Given the description of an element on the screen output the (x, y) to click on. 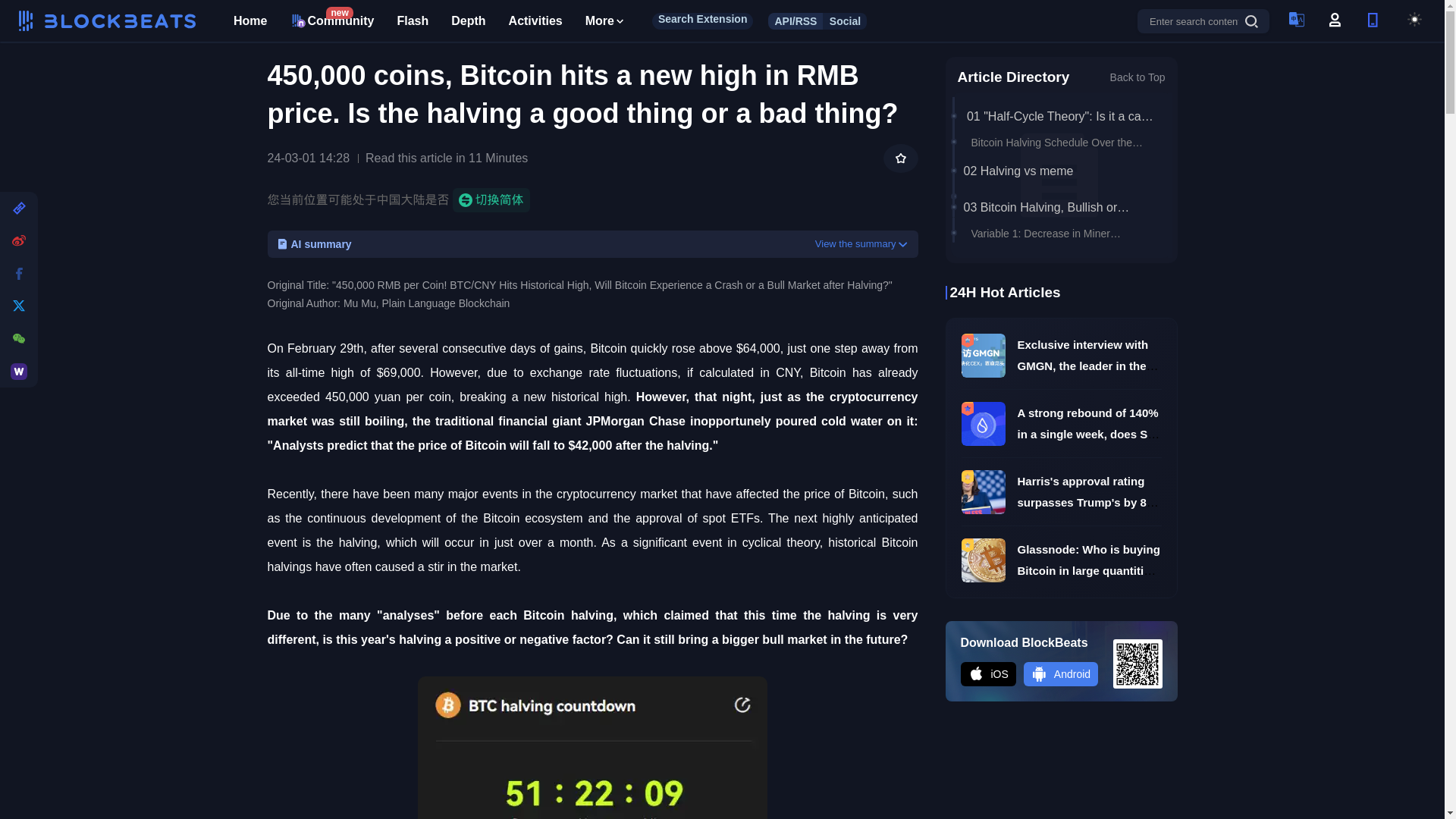
Depth (467, 21)
Flash (331, 21)
Home (412, 21)
Search Extension (249, 21)
Activities (703, 20)
iOS (535, 21)
